Given the description of an element on the screen output the (x, y) to click on. 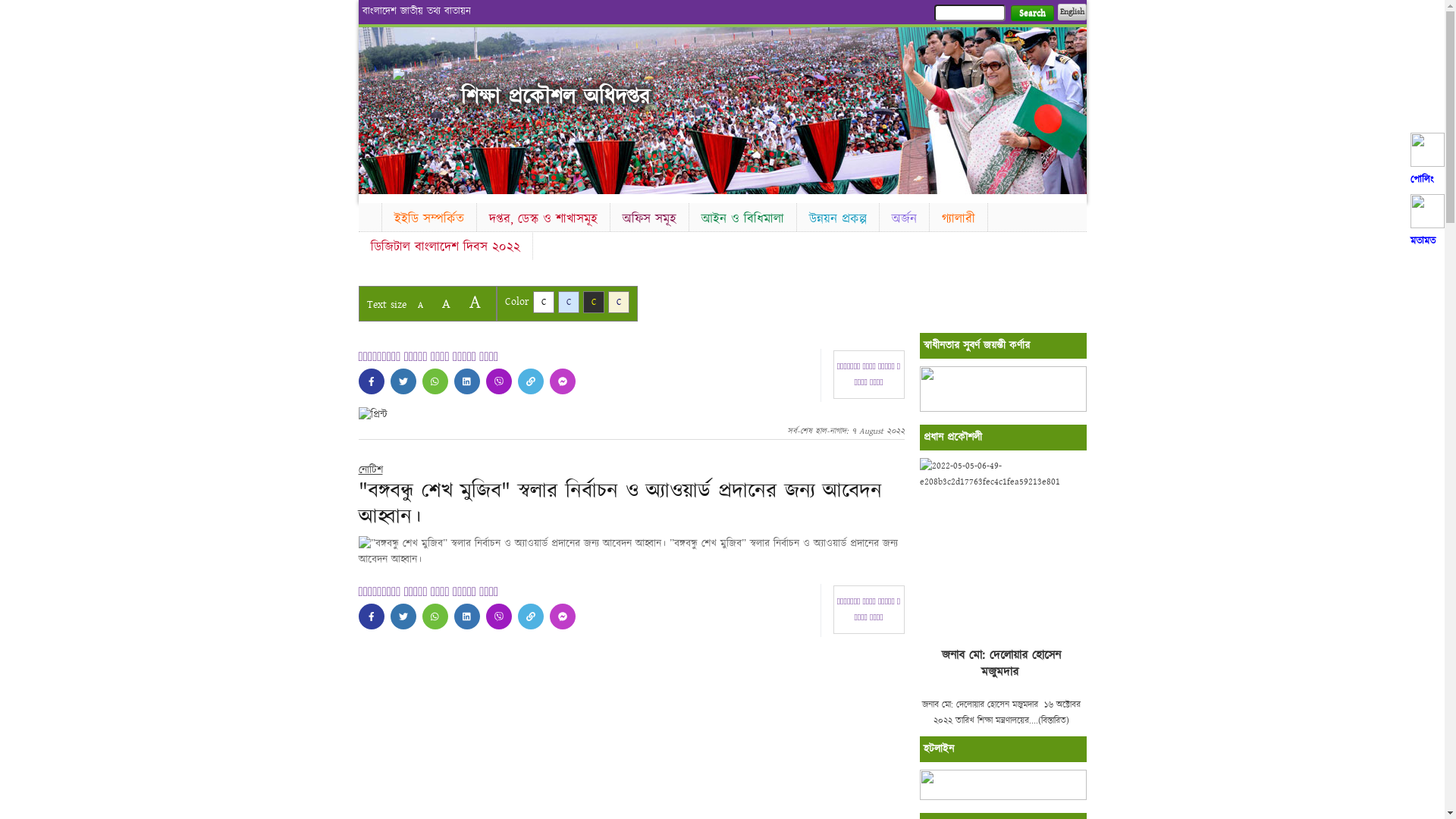
Home Element type: hover (368, 215)
C Element type: text (542, 302)
Home Element type: hover (418, 76)
C Element type: text (568, 302)
A Element type: text (474, 302)
Search Element type: text (1031, 13)
C Element type: text (618, 302)
English Element type: text (1071, 11)
C Element type: text (592, 302)
A Element type: text (445, 303)
A Element type: text (419, 304)
